Given the description of an element on the screen output the (x, y) to click on. 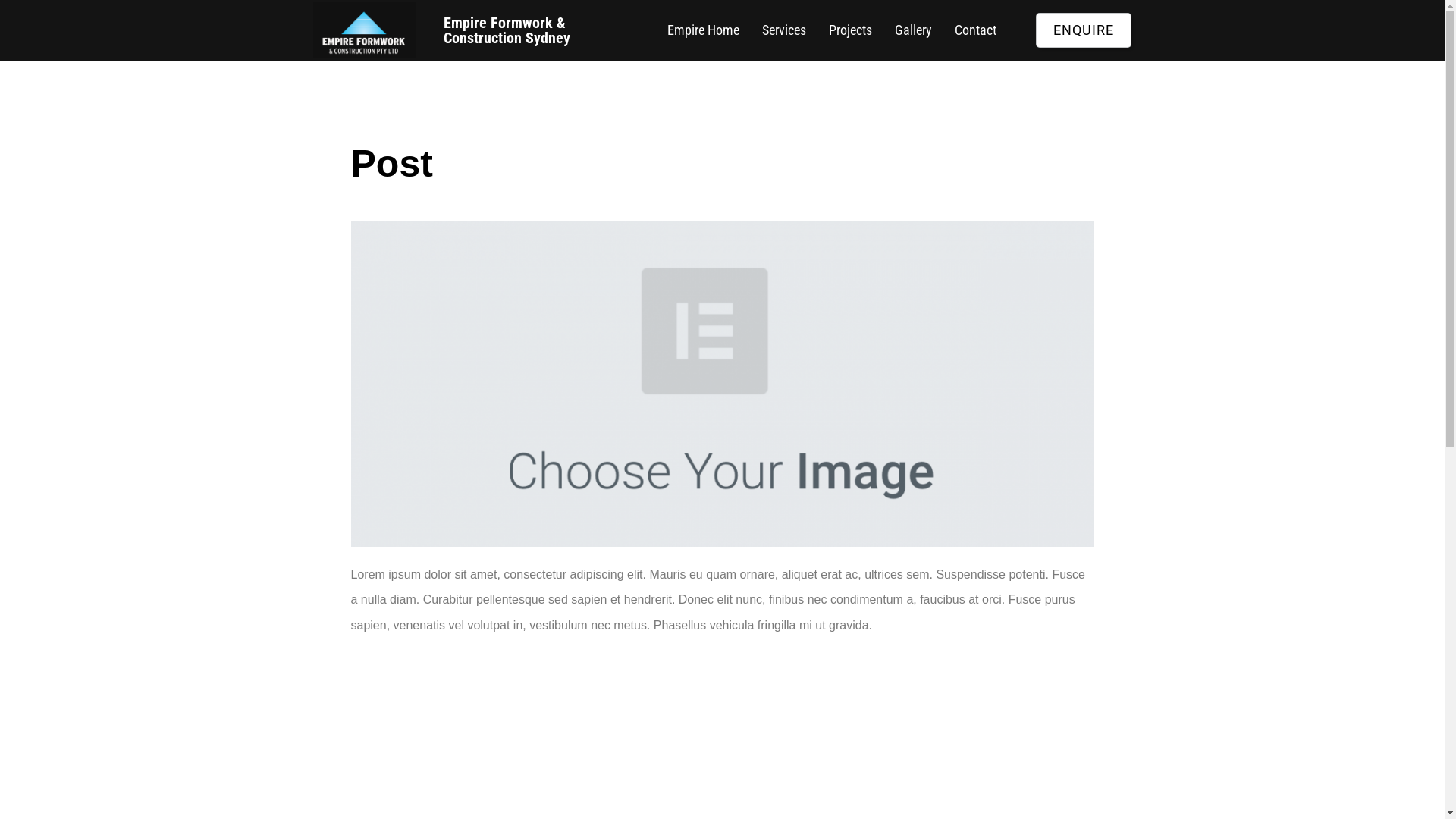
Gallery Element type: text (913, 29)
placeholder.png Element type: hover (721, 383)
Contact Element type: text (975, 29)
Services Element type: text (783, 29)
ENQUIRE Element type: text (1083, 29)
Empire Home Element type: text (702, 29)
Projects Element type: text (850, 29)
